Given the description of an element on the screen output the (x, y) to click on. 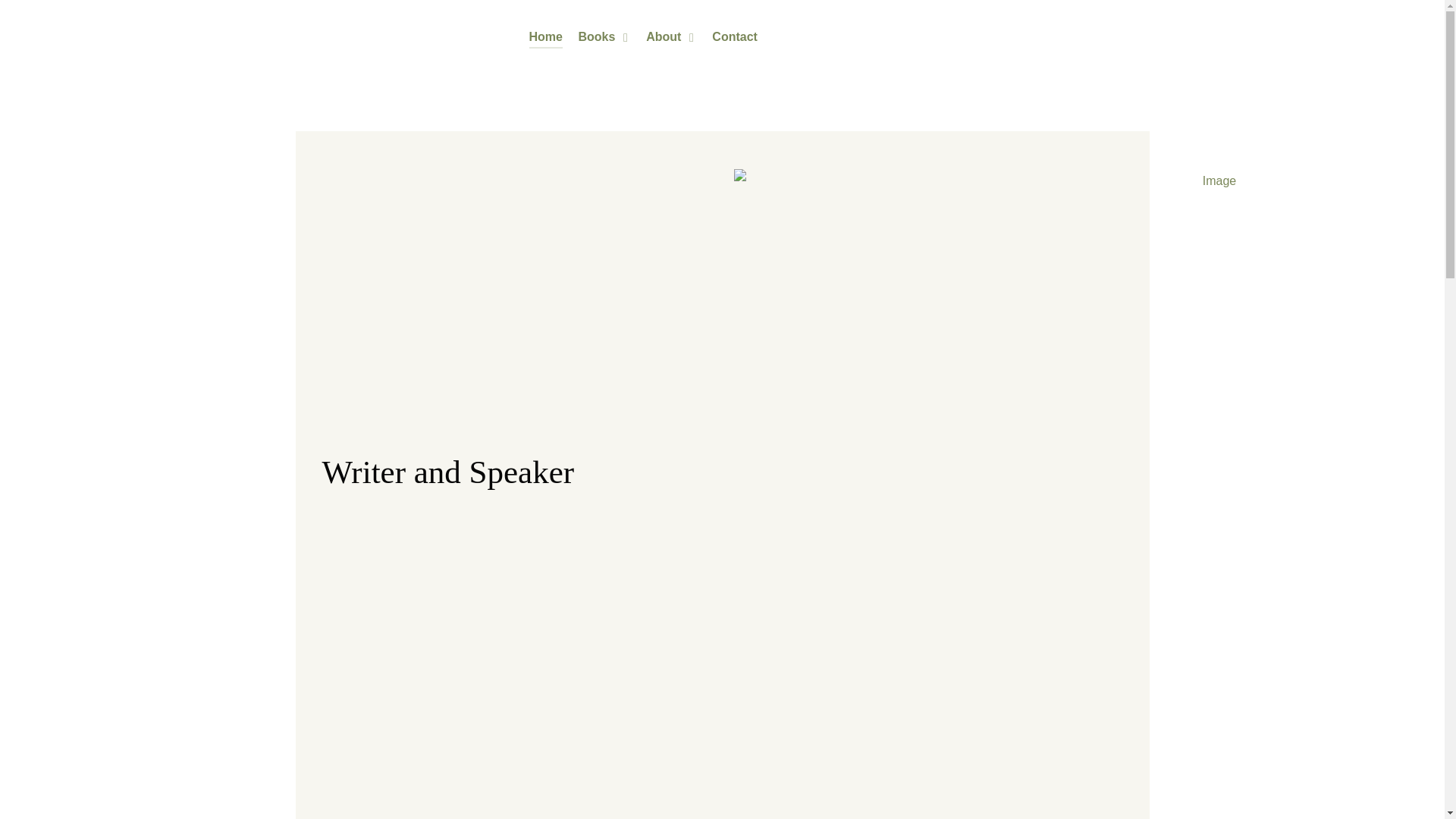
Home (545, 38)
Contact (734, 38)
